Given the description of an element on the screen output the (x, y) to click on. 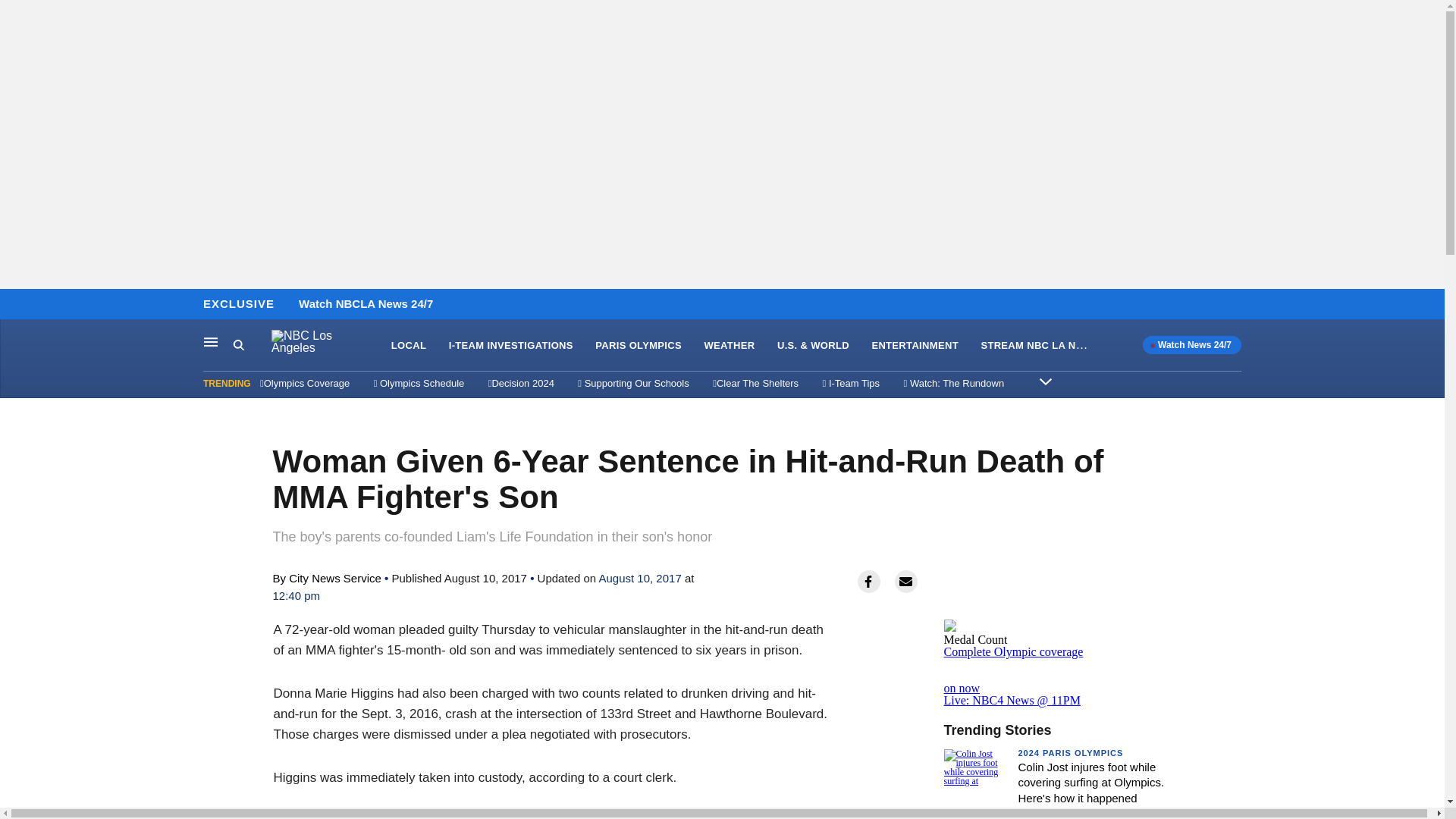
PARIS OLYMPICS (638, 345)
Search (252, 345)
2024 PARIS OLYMPICS (1069, 752)
WEATHER (728, 345)
Skip to content (16, 304)
Complete Olympic coverage (1013, 651)
Expand (1045, 381)
Search (238, 344)
I-TEAM INVESTIGATIONS (510, 345)
ENTERTAINMENT (914, 345)
Main Navigation (210, 341)
LOCAL (408, 345)
